Given the description of an element on the screen output the (x, y) to click on. 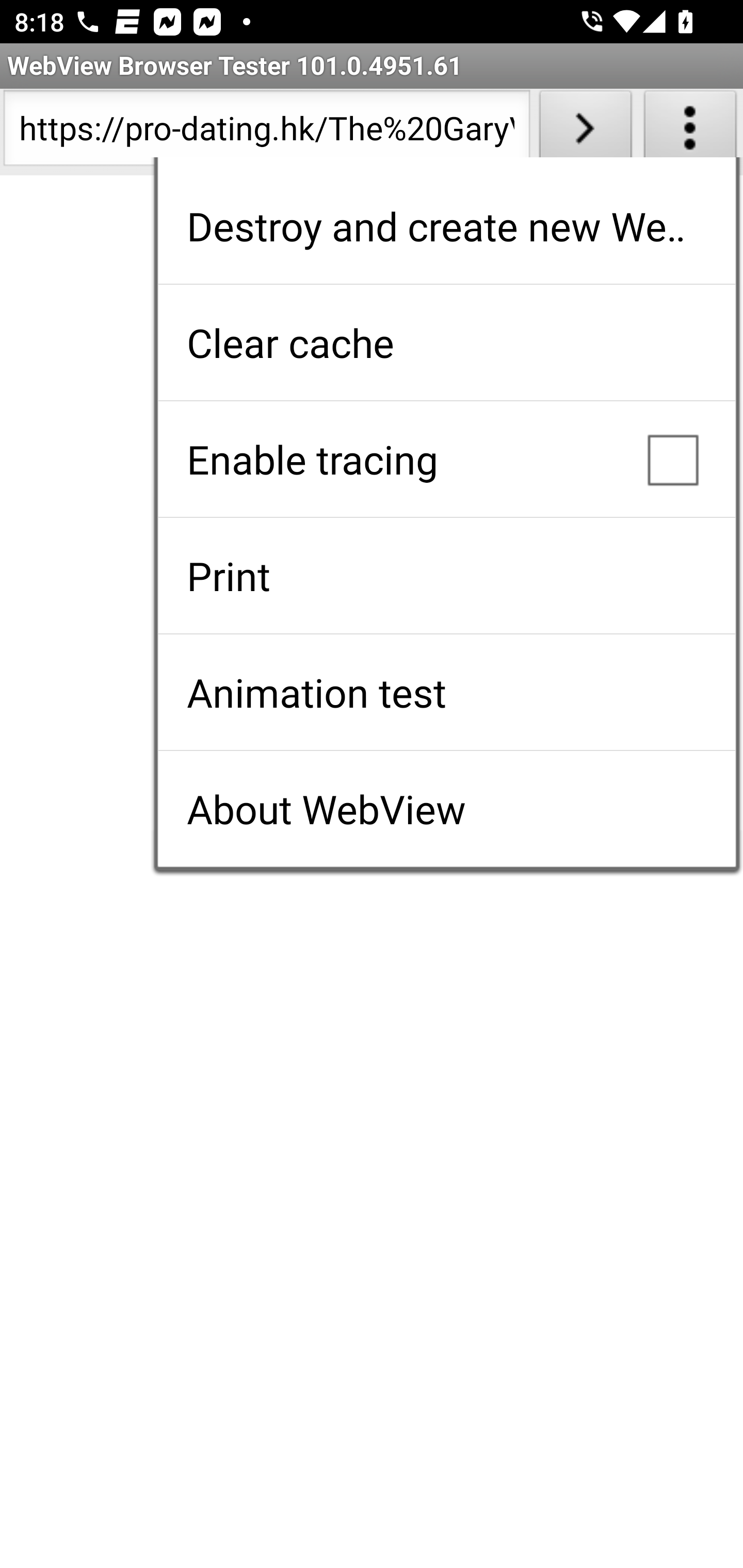
Destroy and create new WebView (446, 225)
Clear cache (446, 342)
Enable tracing (446, 459)
Print (446, 575)
Animation test (446, 692)
About WebView (446, 809)
